Given the description of an element on the screen output the (x, y) to click on. 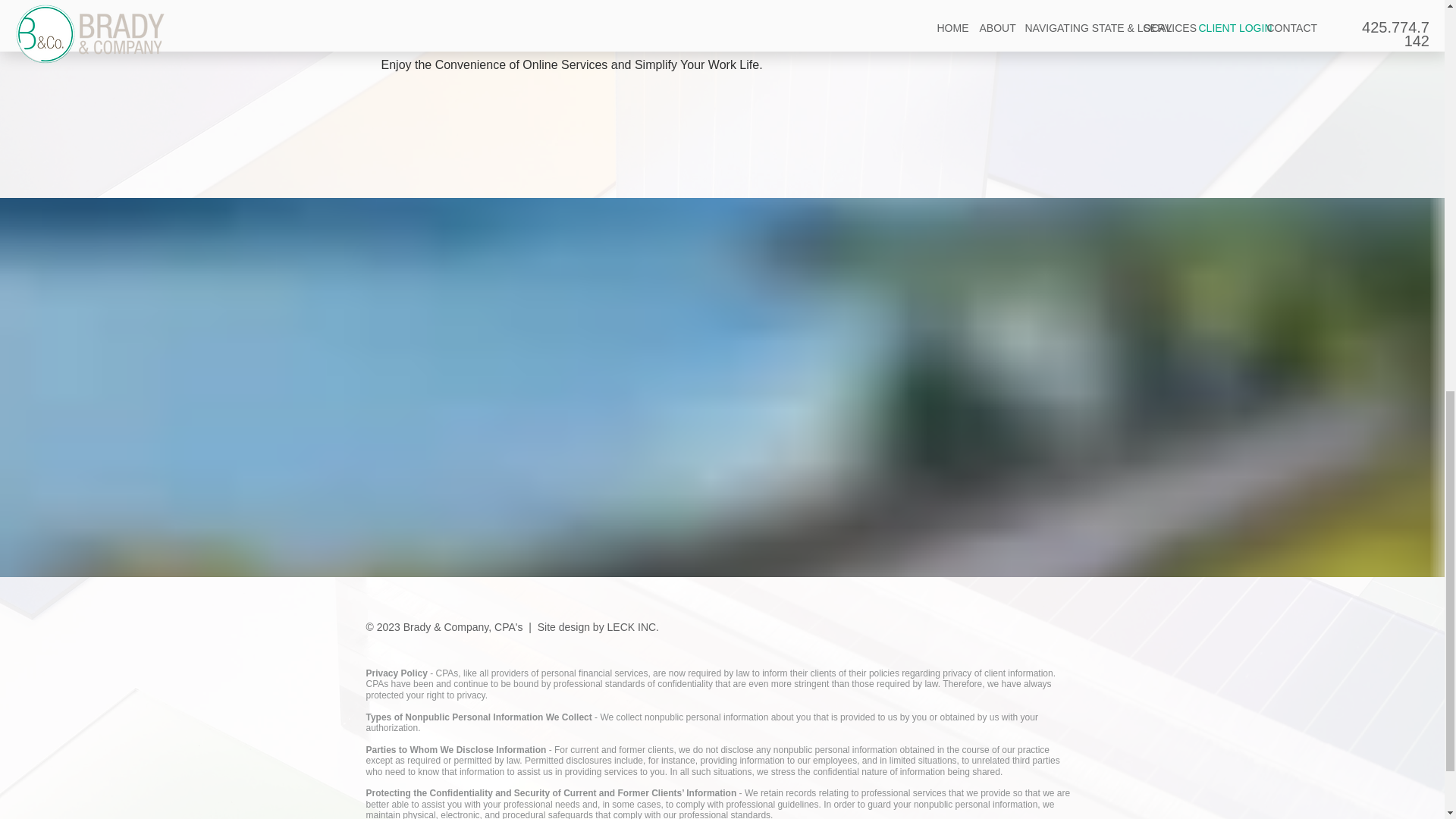
LECK INC. (633, 626)
